Given the description of an element on the screen output the (x, y) to click on. 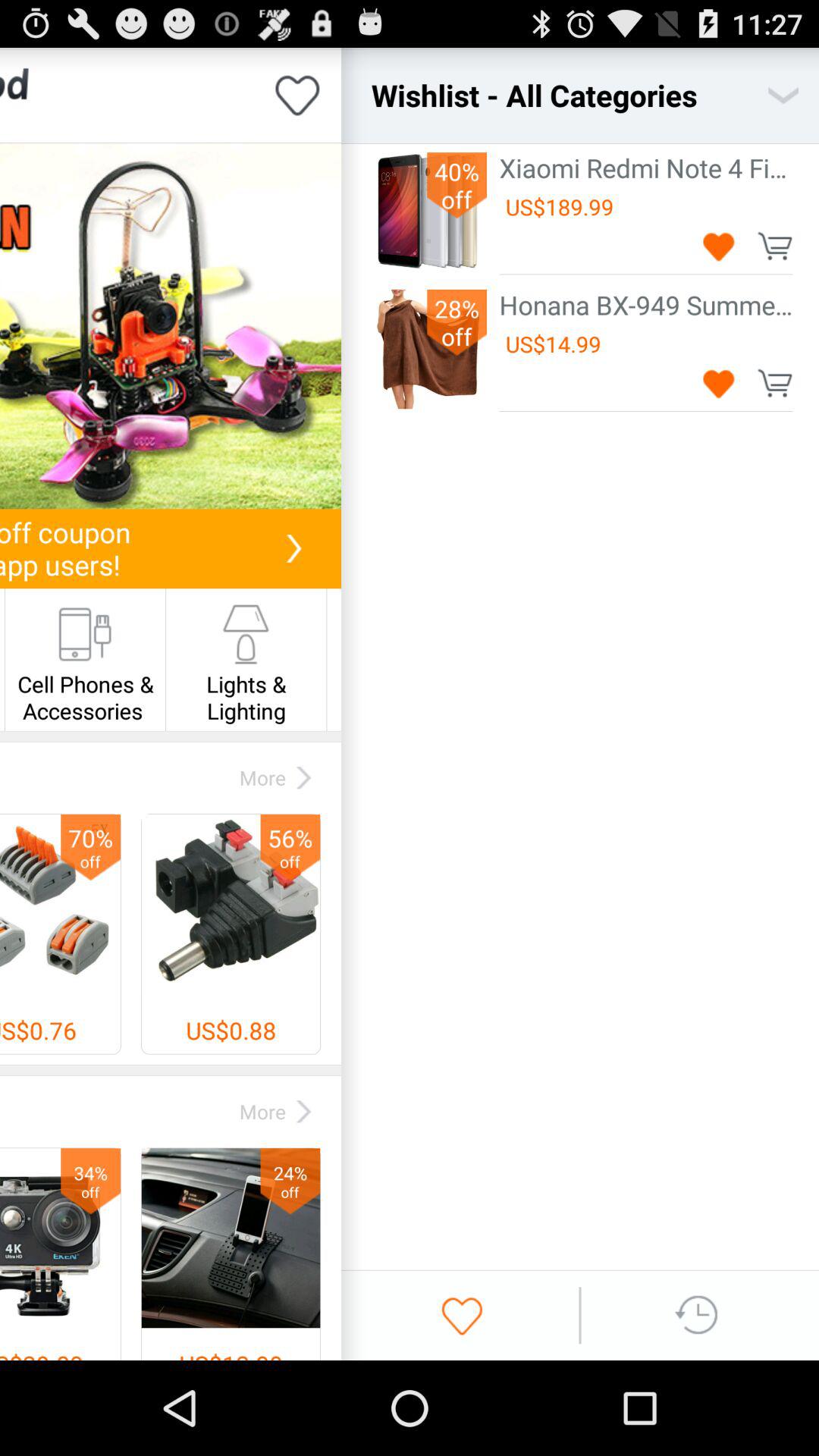
add item to your wishlist (719, 245)
